Given the description of an element on the screen output the (x, y) to click on. 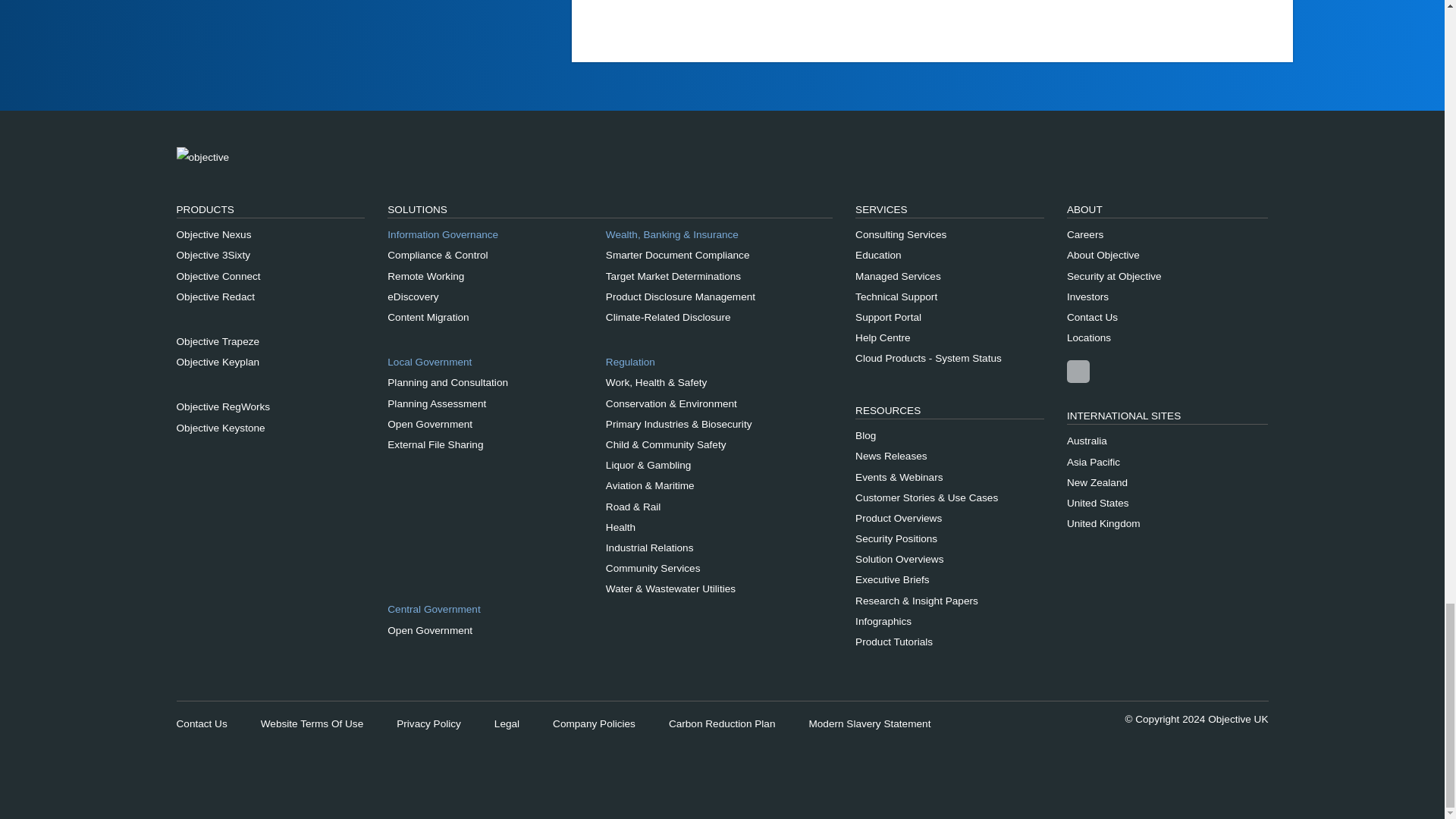
Objective Redact (270, 296)
Objective Trapeze (270, 341)
Information Governance (494, 234)
Content Migration (491, 317)
Objective Nexus (270, 234)
eDiscovery (491, 296)
Smarter Document Compliance (710, 254)
Remote Working (491, 276)
Objective Keystone (270, 427)
Objective Keyplan (270, 362)
